Given the description of an element on the screen output the (x, y) to click on. 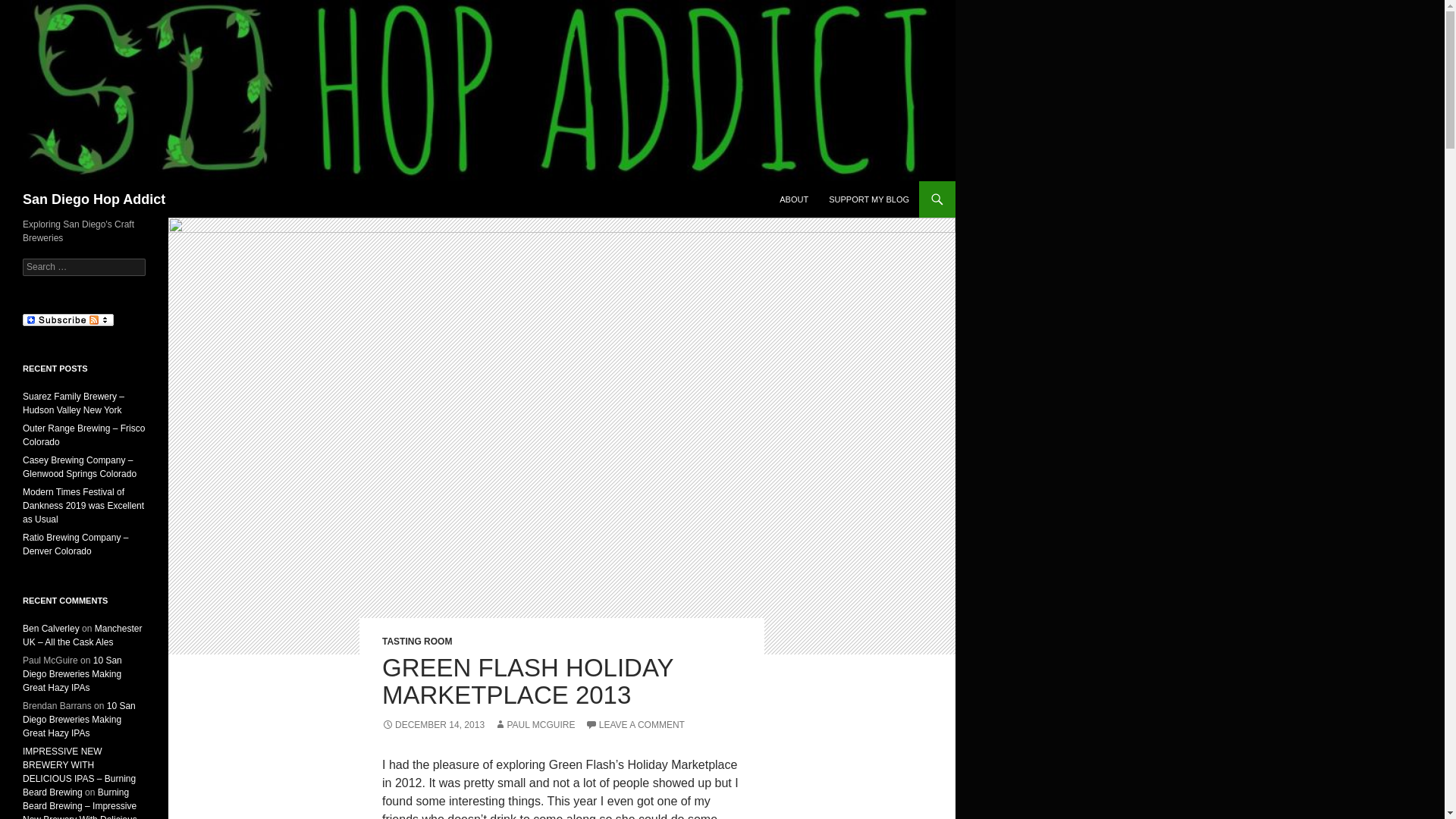
PAUL MCGUIRE (535, 724)
Search (30, 8)
ABOUT (793, 198)
LEAVE A COMMENT (634, 724)
DECEMBER 14, 2013 (432, 724)
San Diego Hop Addict (94, 198)
SUPPORT MY BLOG (868, 198)
TASTING ROOM (416, 641)
